Given the description of an element on the screen output the (x, y) to click on. 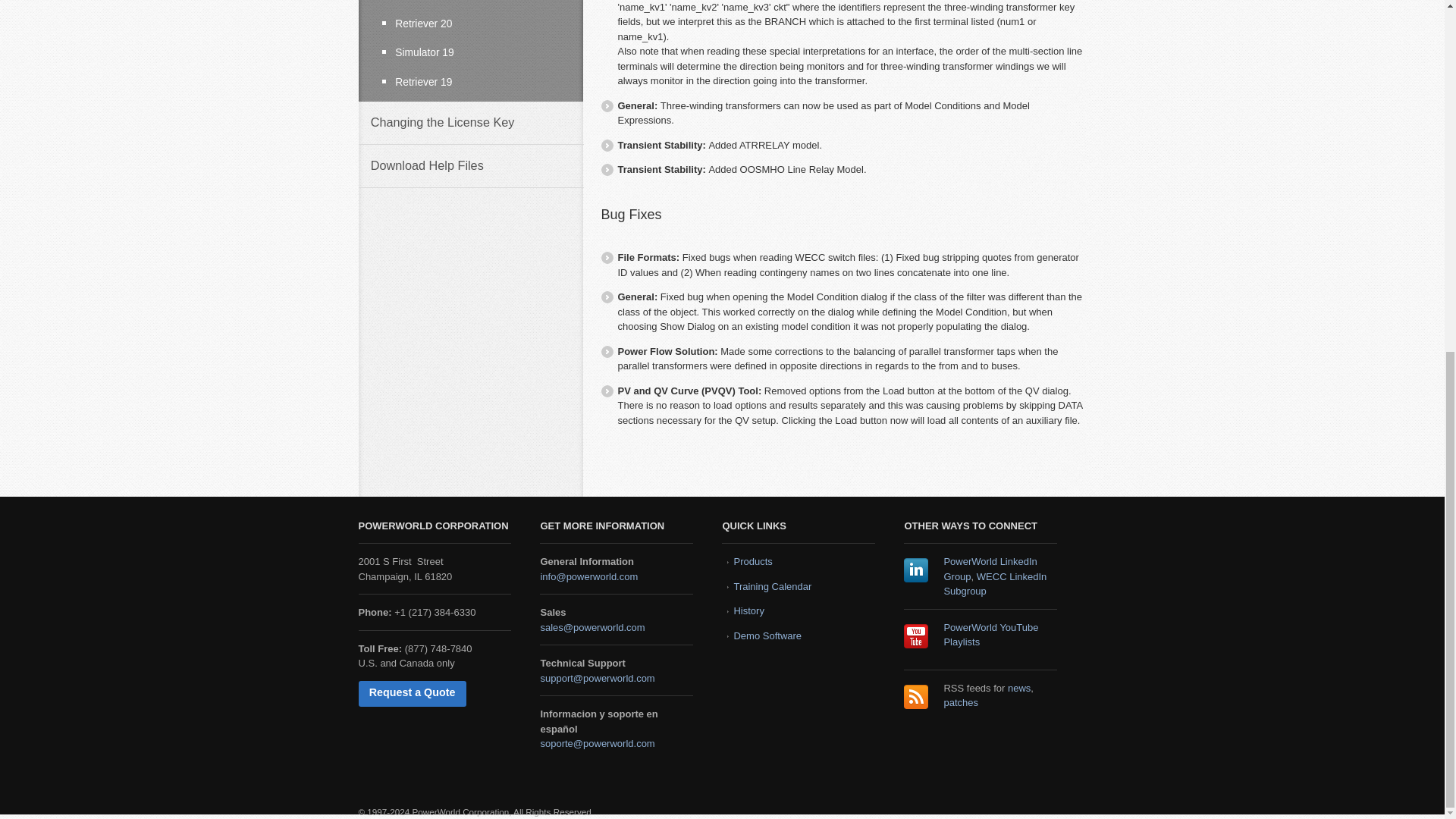
youtube (916, 636)
Request a Quote (411, 693)
rss-large (916, 696)
linked-in (916, 569)
